Given the description of an element on the screen output the (x, y) to click on. 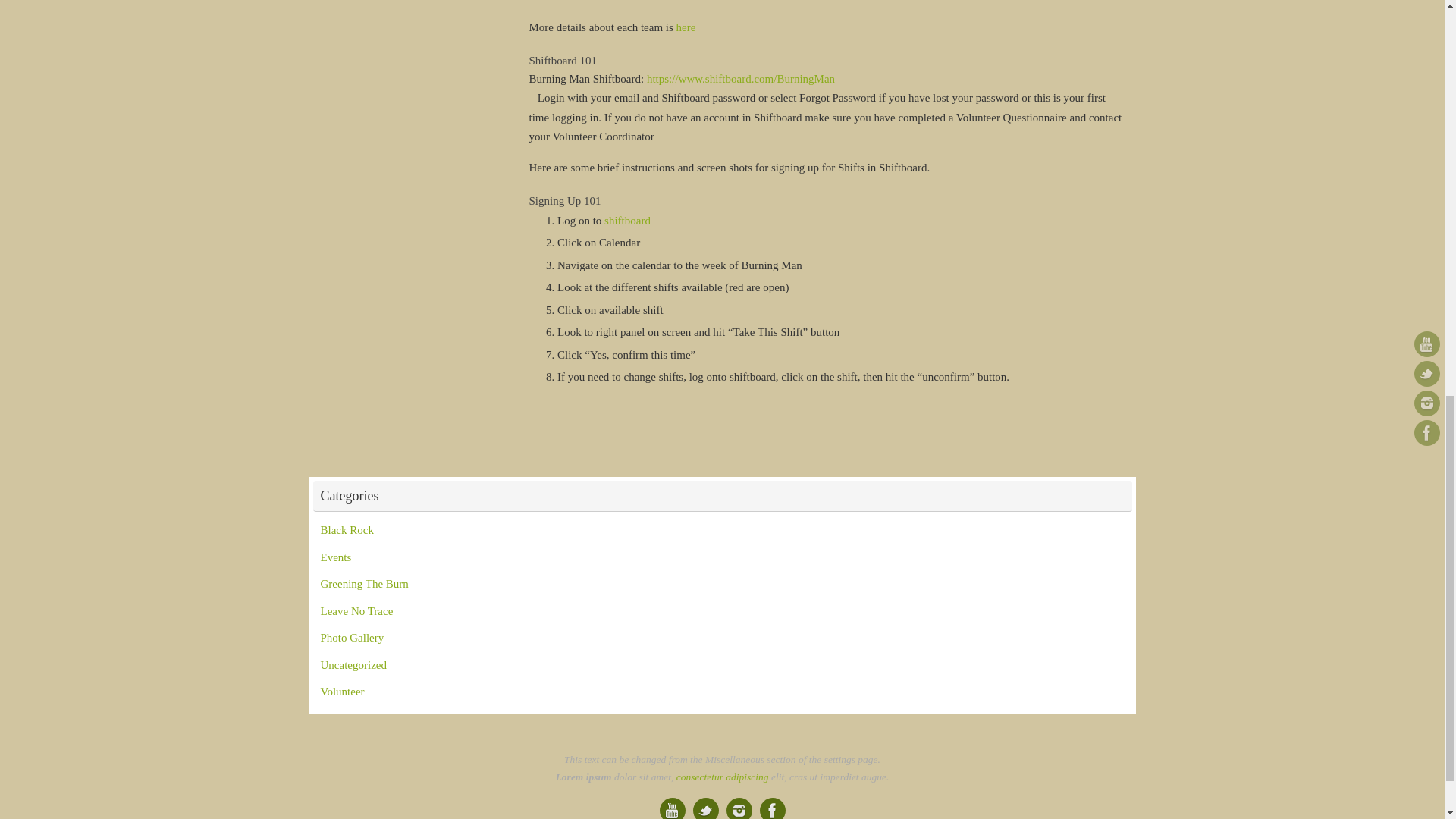
here (686, 27)
Facebook BRC Earth Guardians (773, 808)
Burning Man You Tube (672, 808)
Instagram: Earth Guardians (739, 808)
Twitter: BM Earth Guardians (706, 808)
shiftboard (627, 220)
